Given the description of an element on the screen output the (x, y) to click on. 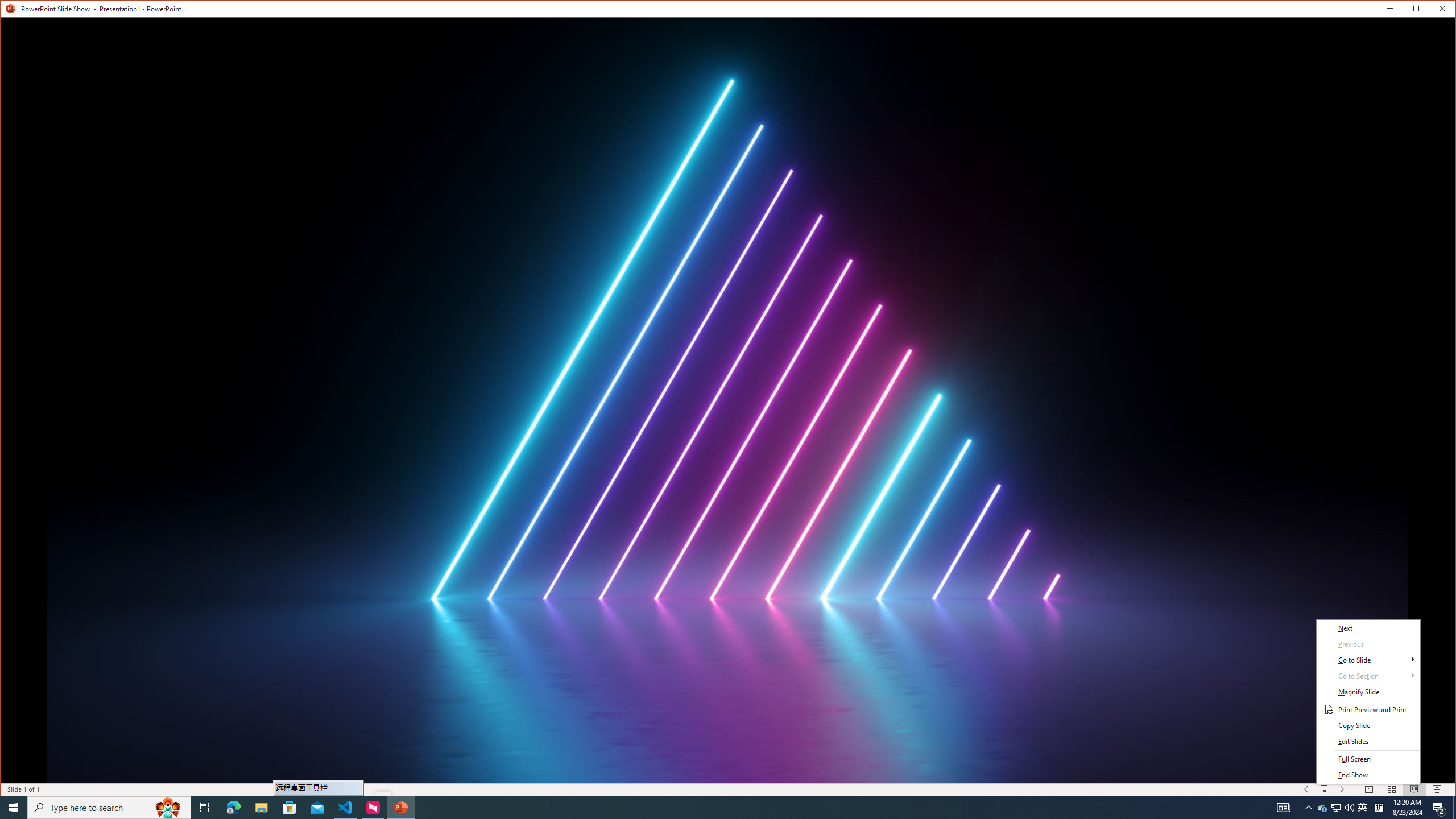
Task View (204, 807)
File Explorer (261, 807)
PowerPoint - 1 running window (400, 807)
Microsoft Edge (233, 807)
Edit Slides (1368, 741)
Visual Studio Code - 1 running window (345, 807)
Tray Input Indicator - Chinese (Simplified, China) (1378, 807)
Magnify Slide (1368, 691)
Slide Show Previous On (1322, 807)
Start (1306, 789)
Print Preview and Print (13, 807)
